Given the description of an element on the screen output the (x, y) to click on. 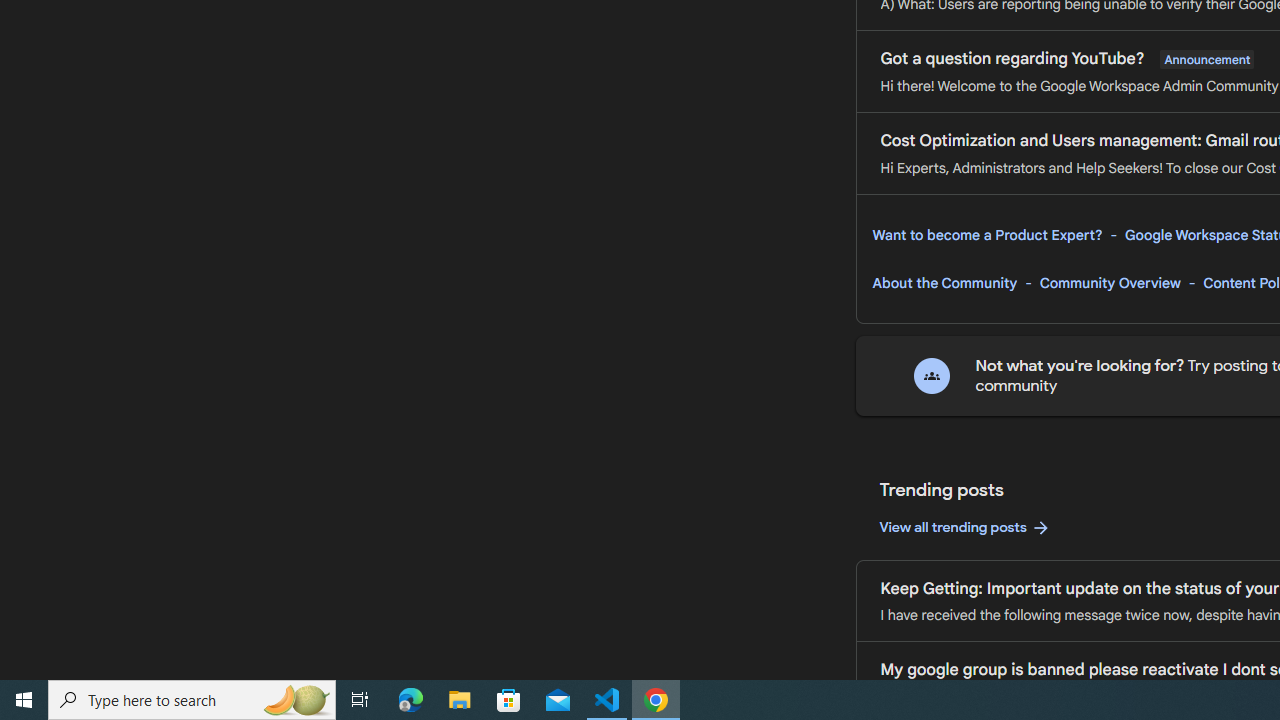
Print (104, 168)
Account (104, 551)
Options (104, 605)
Export (104, 223)
Transform (104, 278)
Recover Unsaved Documents (932, 605)
